Given the description of an element on the screen output the (x, y) to click on. 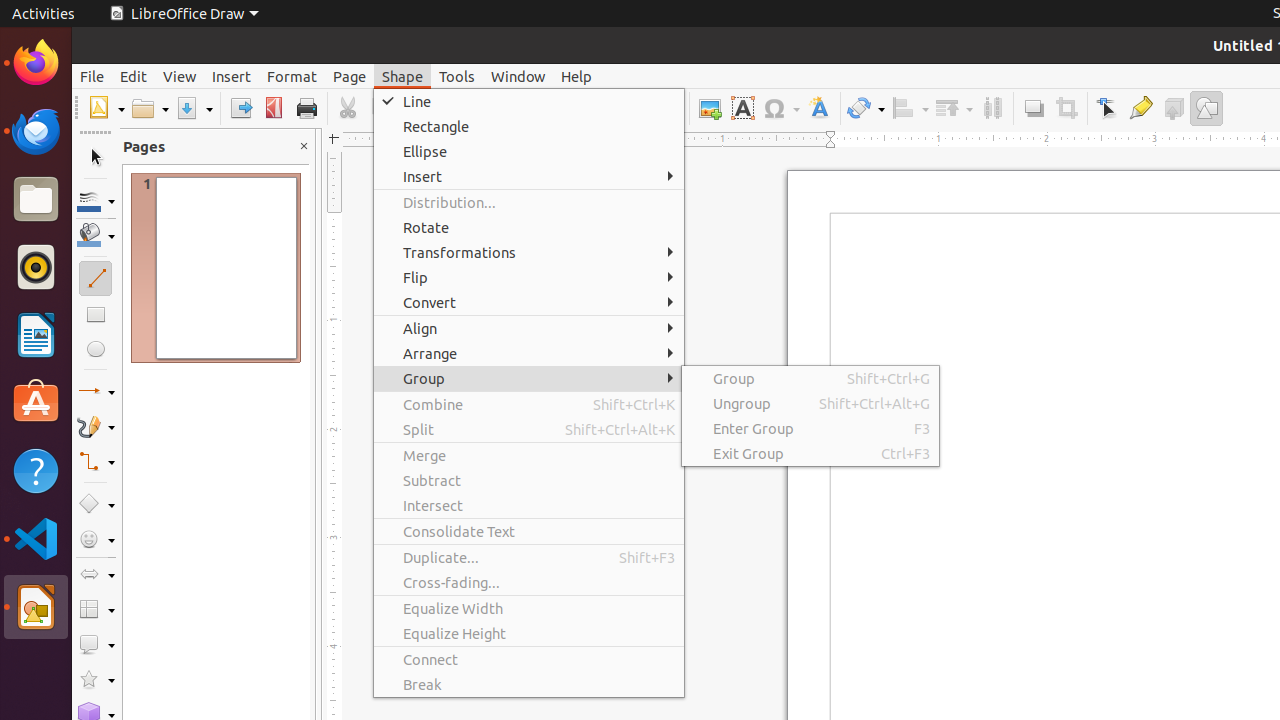
Cross-fading... Element type: menu-item (529, 582)
Files Element type: push-button (36, 199)
Image Element type: push-button (709, 108)
Export Element type: push-button (240, 108)
Draw Functions Element type: toggle-button (1206, 108)
